Given the description of an element on the screen output the (x, y) to click on. 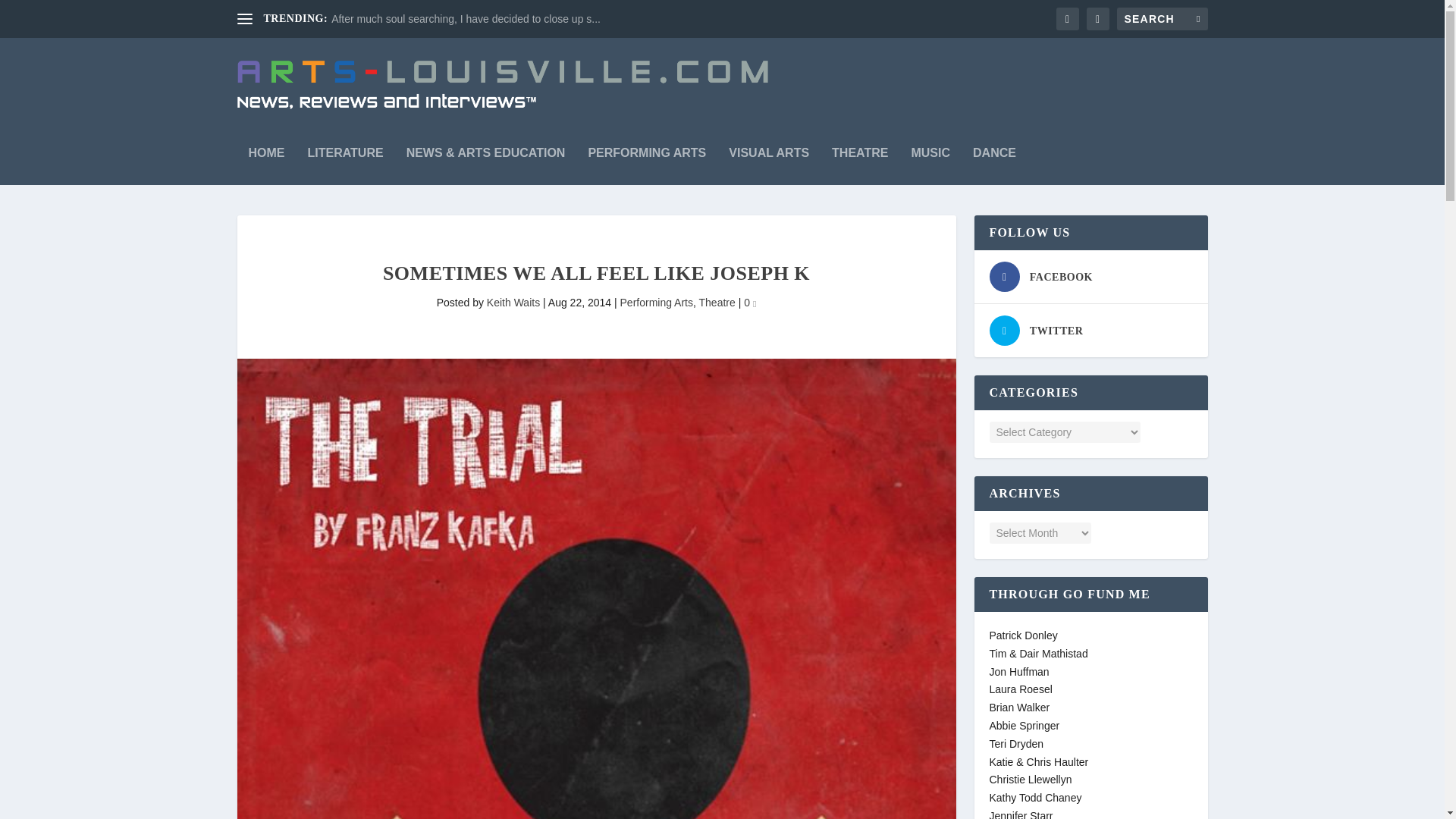
Search for: (1161, 18)
Posts by Keith Waits (513, 302)
LITERATURE (345, 158)
After much soul searching, I have decided to close up s... (465, 19)
PERFORMING ARTS (647, 158)
VISUAL ARTS (769, 158)
THEATRE (859, 158)
